Given the description of an element on the screen output the (x, y) to click on. 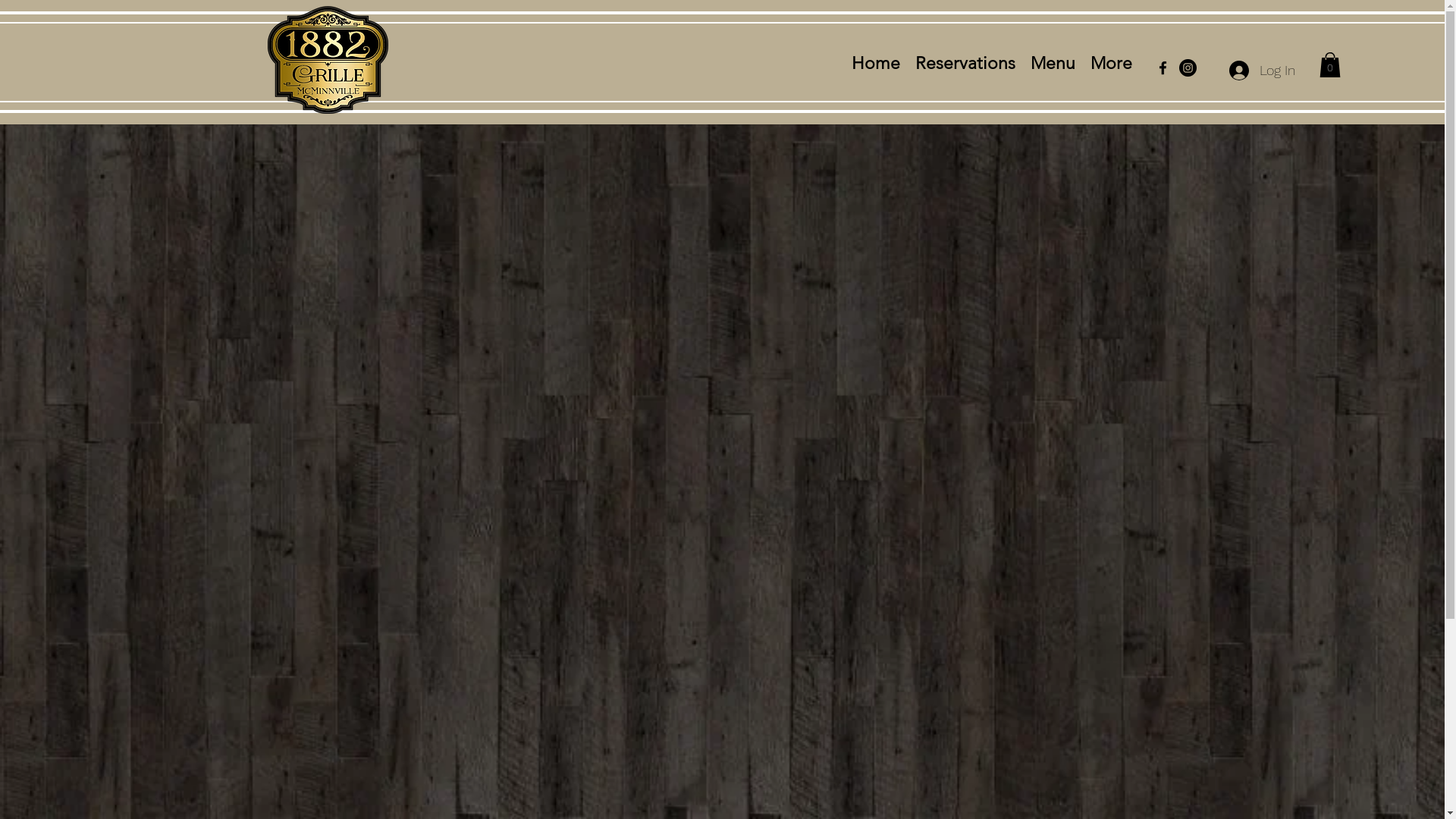
0 Element type: text (1329, 64)
Log In Element type: text (1261, 70)
Reservations Element type: text (964, 63)
Home Element type: text (875, 63)
